Given the description of an element on the screen output the (x, y) to click on. 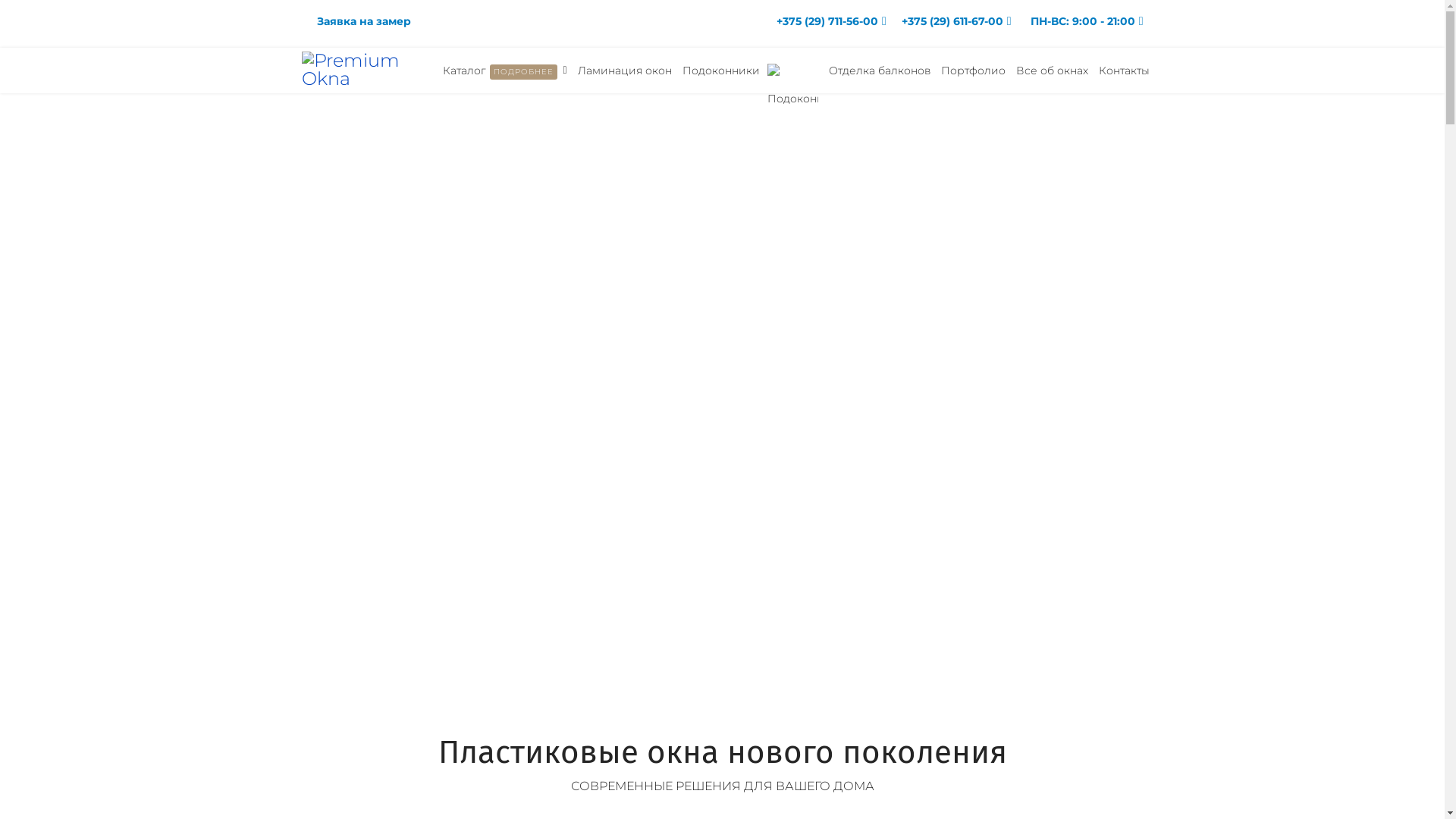
+375 (29) 711-56-00 Element type: text (827, 21)
+375 (29) 611-67-00 Element type: text (952, 21)
